Given the description of an element on the screen output the (x, y) to click on. 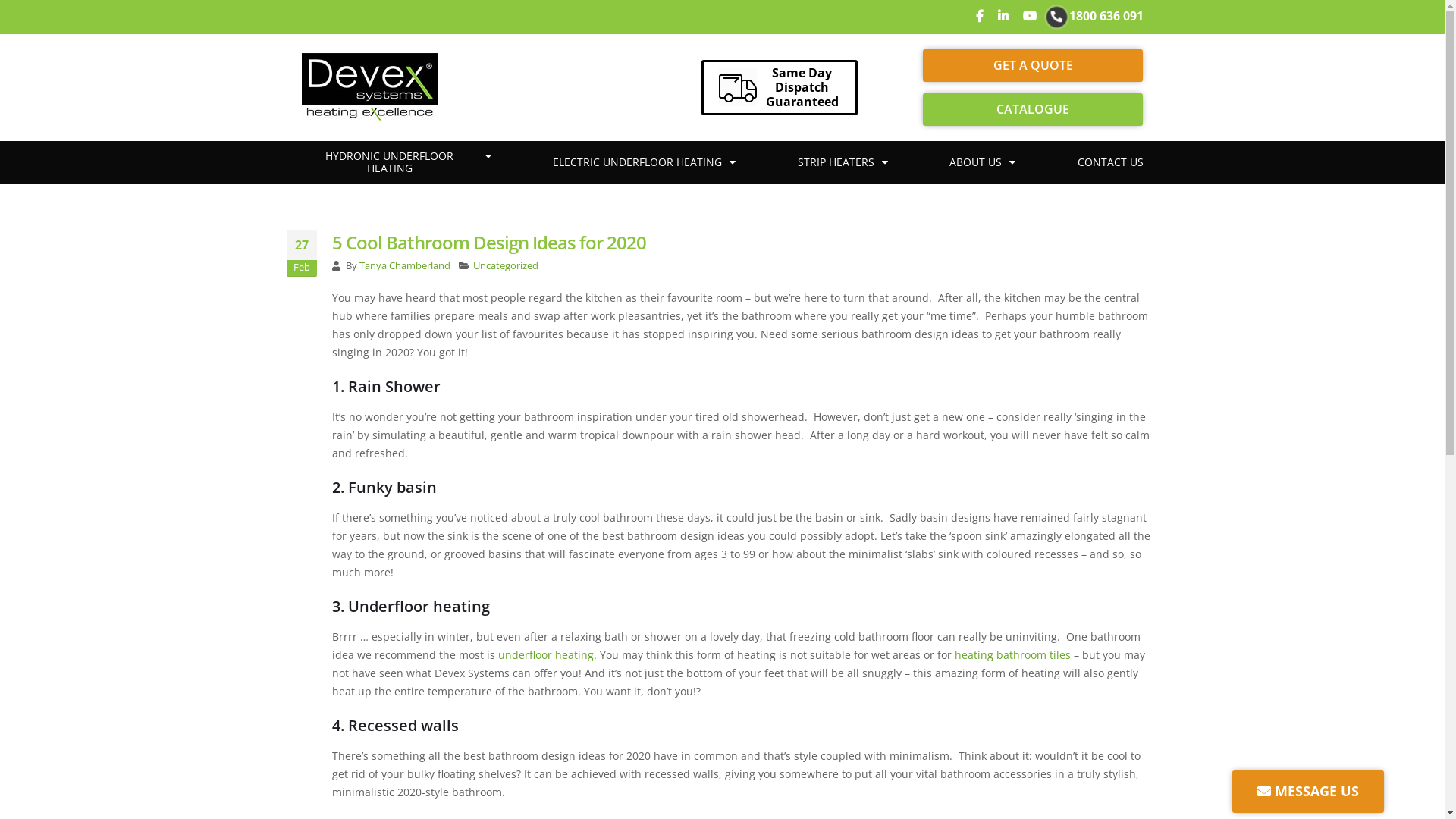
ELECTRIC UNDERFLOOR HEATING Element type: text (643, 162)
HYDRONIC UNDERFLOOR HEATING Element type: text (396, 162)
MESSAGE US Element type: text (1307, 791)
underfloor heating Element type: text (545, 654)
devex floor heating systems Element type: hover (369, 87)
Uncategorized Element type: text (505, 265)
ABOUT US Element type: text (982, 162)
Same Day Dispatch Guaranteed Element type: text (801, 86)
1800 636 091 Element type: text (1106, 15)
STRIP HEATERS Element type: text (842, 162)
GET A QUOTE Element type: text (1032, 65)
CONTACT US Element type: text (1109, 162)
CATALOGUE Element type: text (1032, 109)
heating bathroom tiles Element type: text (1011, 654)
Tanya Chamberland Element type: text (404, 265)
